Given the description of an element on the screen output the (x, y) to click on. 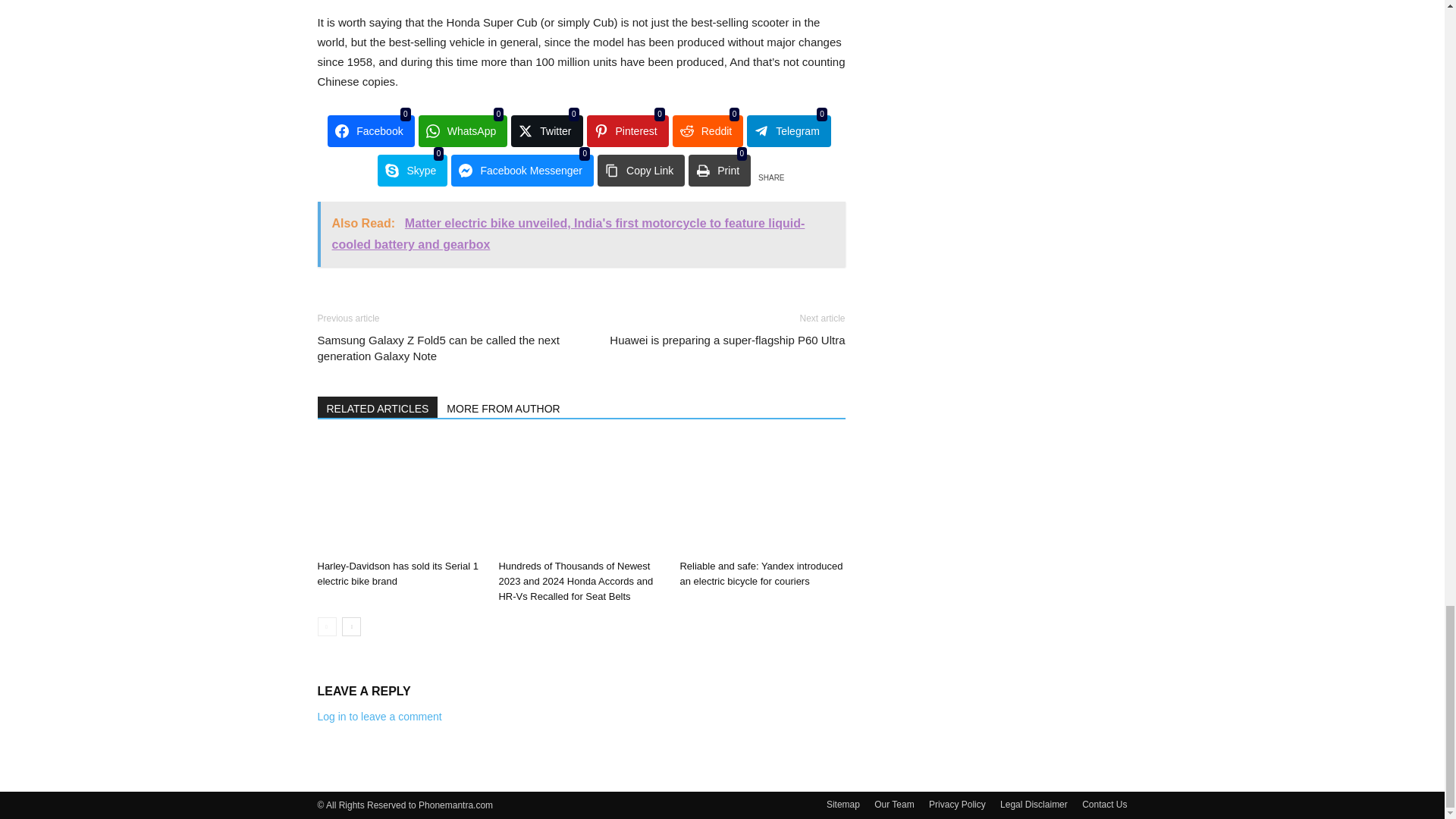
Share on Print (719, 170)
Share on Skype (411, 170)
Share on Telegram (788, 131)
Share on Pinterest (627, 131)
Share on Reddit (707, 131)
Pinterest (627, 131)
Skype (411, 170)
Twitter (546, 131)
bottomFacebookLike (430, 298)
Telegram (788, 131)
